Given the description of an element on the screen output the (x, y) to click on. 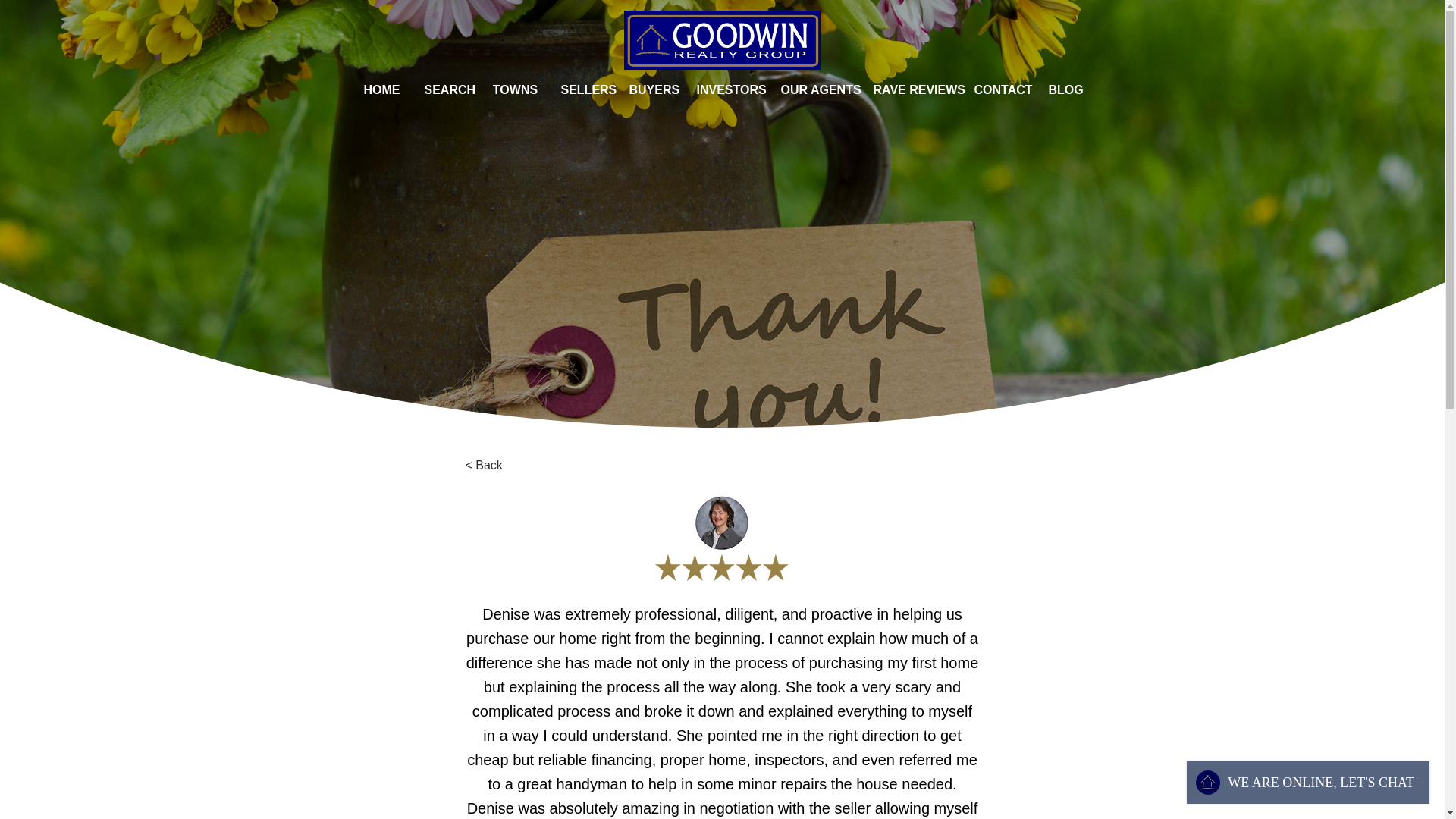
RAVE REVIEWS (911, 89)
BLOG (1065, 89)
TOWNS (514, 89)
SELLERS (582, 89)
BUYERS (650, 89)
CONTACT (999, 89)
OUR AGENTS (814, 89)
HOME (381, 89)
5 STAR REVIEWS denise.png (722, 537)
